Given the description of an element on the screen output the (x, y) to click on. 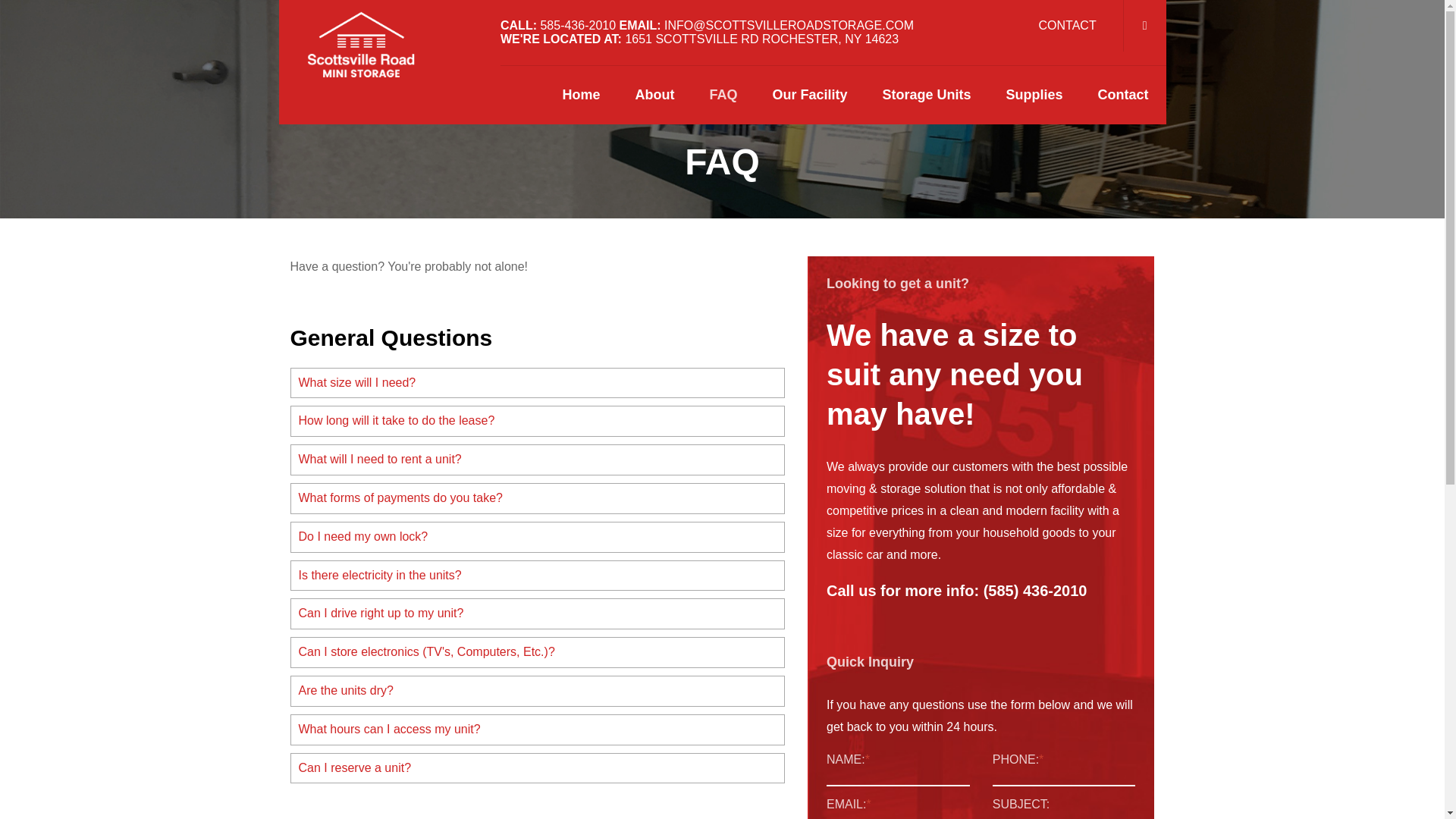
Home (580, 95)
Are the units dry? (537, 690)
Do I need my own lock? (537, 537)
What will I need to rent a unit? (537, 460)
Contact (1123, 95)
Can I reserve a unit? (537, 767)
Is there electricity in the units? (537, 575)
Supplies (1034, 95)
What forms of payments do you take? (537, 498)
CONTACT (1067, 24)
What size will I need? (537, 383)
General Questions (390, 337)
What hours can I access my unit? (537, 729)
How long will it take to do the lease? (537, 420)
Our Facility (809, 95)
